Given the description of an element on the screen output the (x, y) to click on. 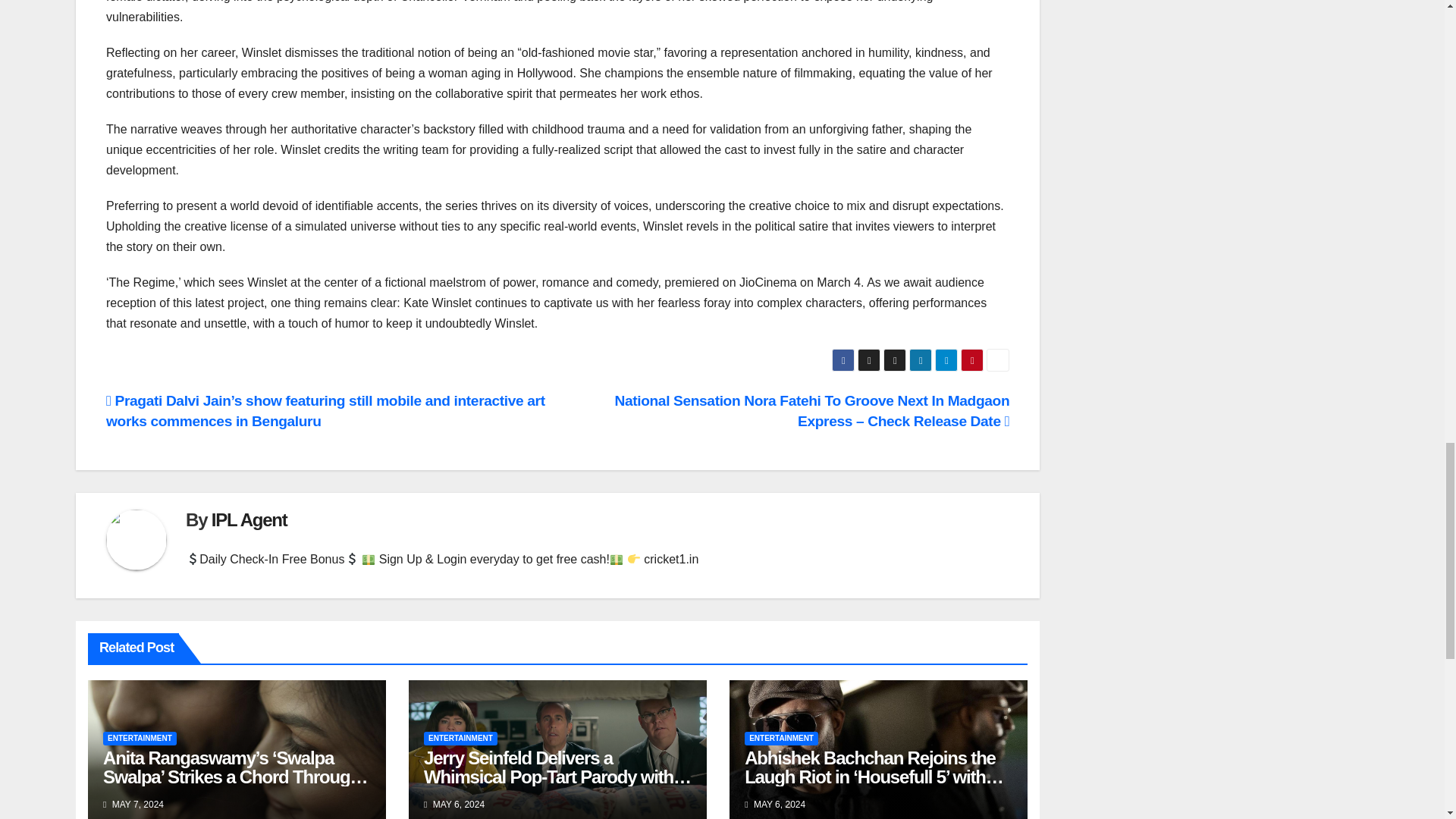
IPL Agent (248, 519)
